Given the description of an element on the screen output the (x, y) to click on. 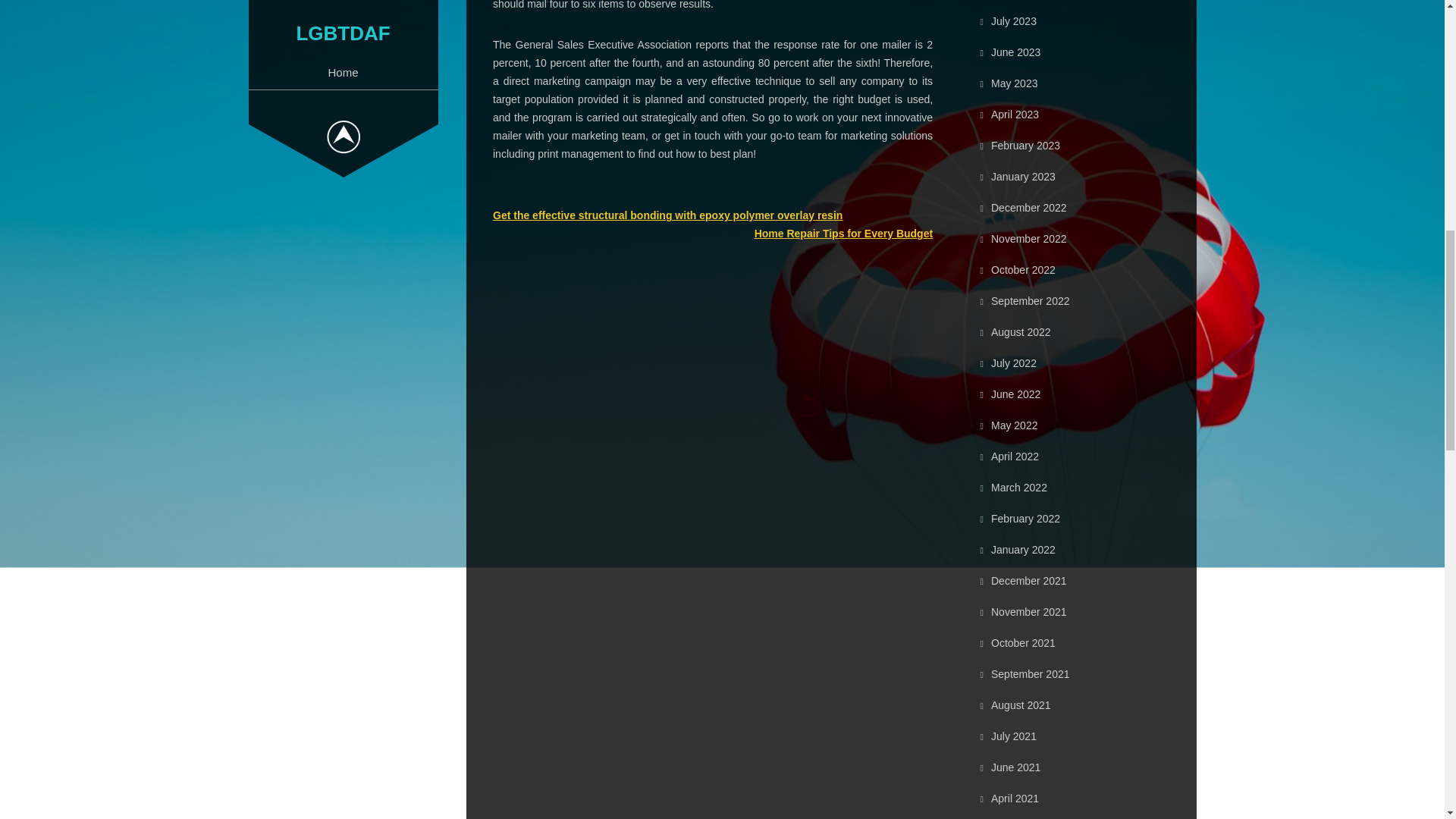
June 2023 (1016, 51)
July 2022 (1013, 363)
January 2023 (1023, 176)
April 2023 (1015, 114)
April 2022 (1015, 456)
July 2023 (1013, 21)
February 2023 (1025, 145)
May 2022 (1013, 425)
May 2023 (1013, 82)
October 2022 (1023, 269)
November 2022 (1029, 238)
September 2022 (1030, 300)
December 2022 (1029, 207)
June 2022 (1016, 394)
